Given the description of an element on the screen output the (x, y) to click on. 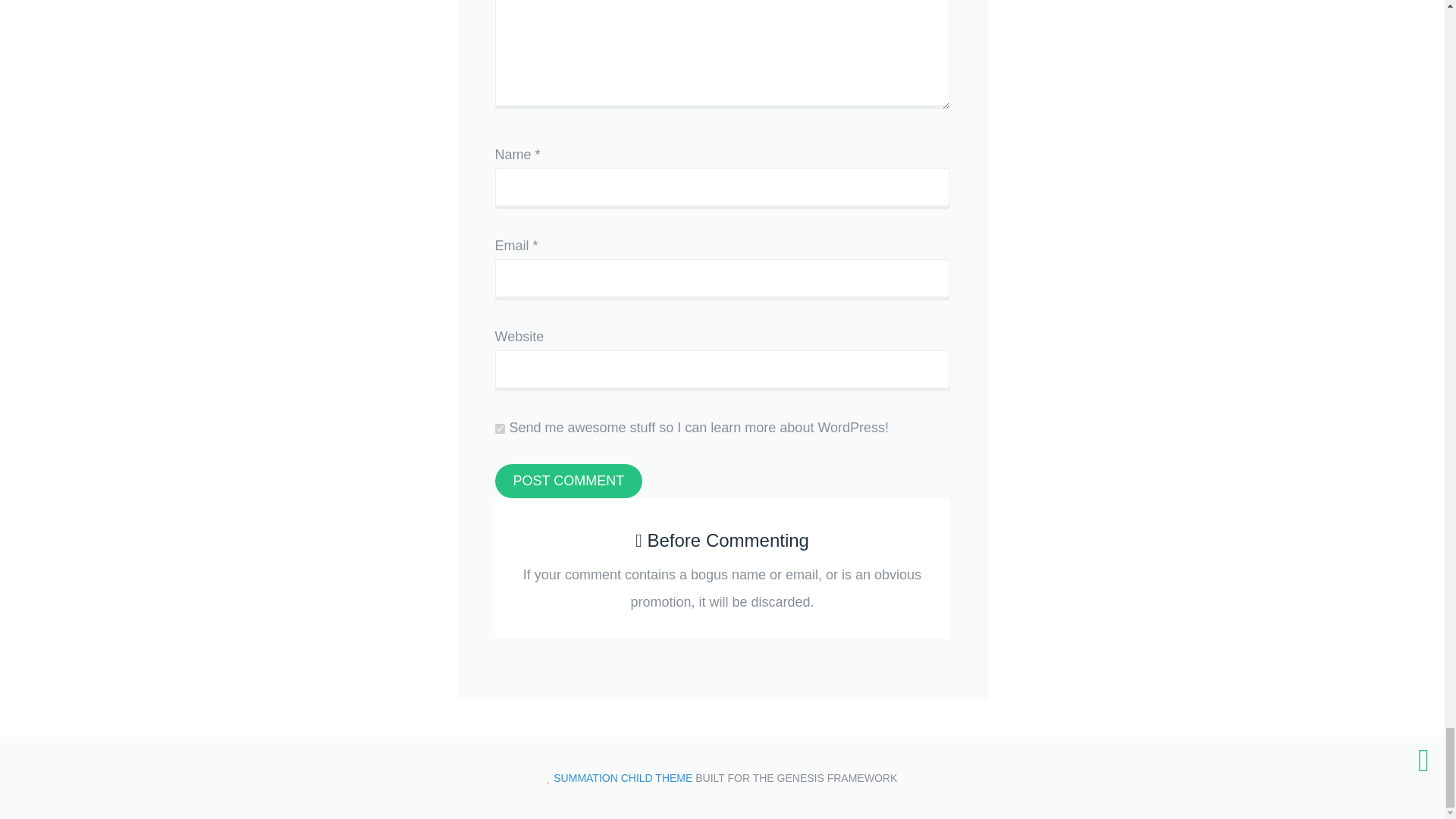
1 (499, 429)
Post Comment (568, 480)
